Given the description of an element on the screen output the (x, y) to click on. 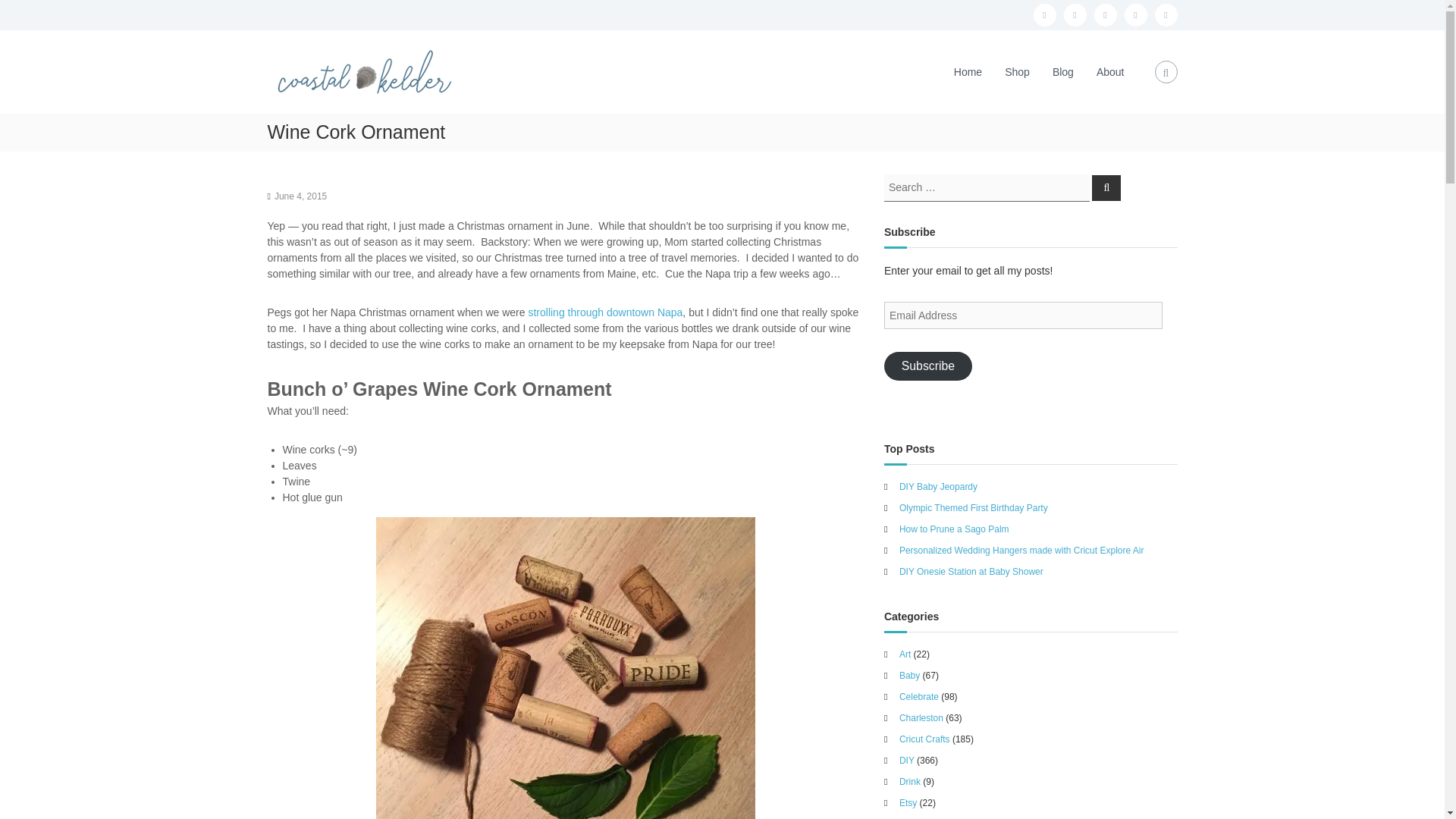
Search (1106, 186)
strolling through downtown Napa (604, 312)
Shop (1016, 70)
About (1110, 70)
Instagram (1074, 15)
Twitter (1104, 15)
Olympic Themed First Birthday Party (973, 507)
Blog (1063, 70)
Subscribe (927, 366)
Pinterest (1135, 15)
DIY Baby Jeopardy (937, 485)
Etsy (1165, 15)
Home (967, 70)
June 4, 2015 (300, 195)
Facebook (1043, 15)
